Given the description of an element on the screen output the (x, y) to click on. 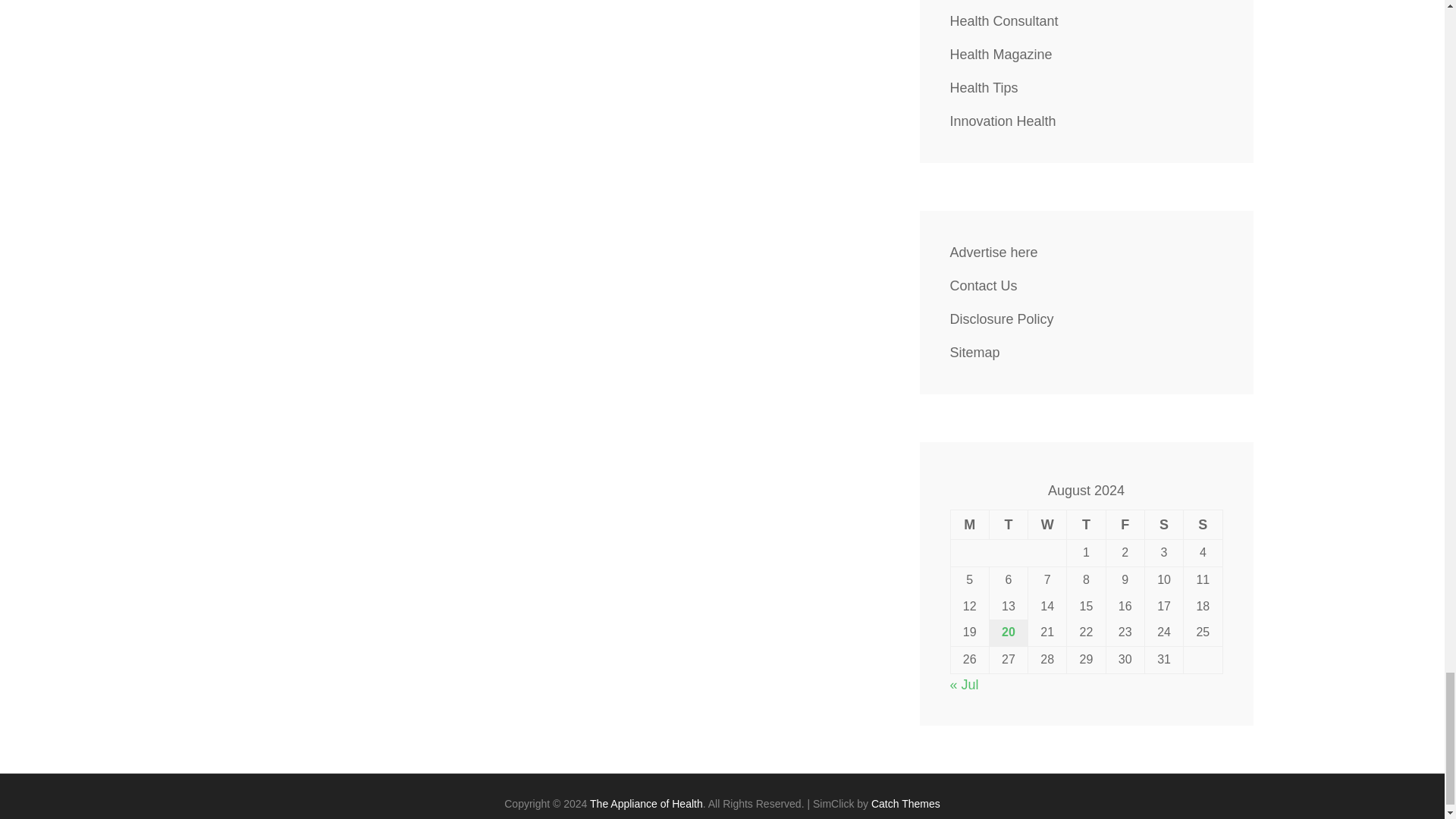
Thursday (1086, 523)
Sunday (1203, 523)
Monday (969, 523)
Friday (1124, 523)
Tuesday (1007, 523)
Wednesday (1047, 523)
Saturday (1163, 523)
